Given the description of an element on the screen output the (x, y) to click on. 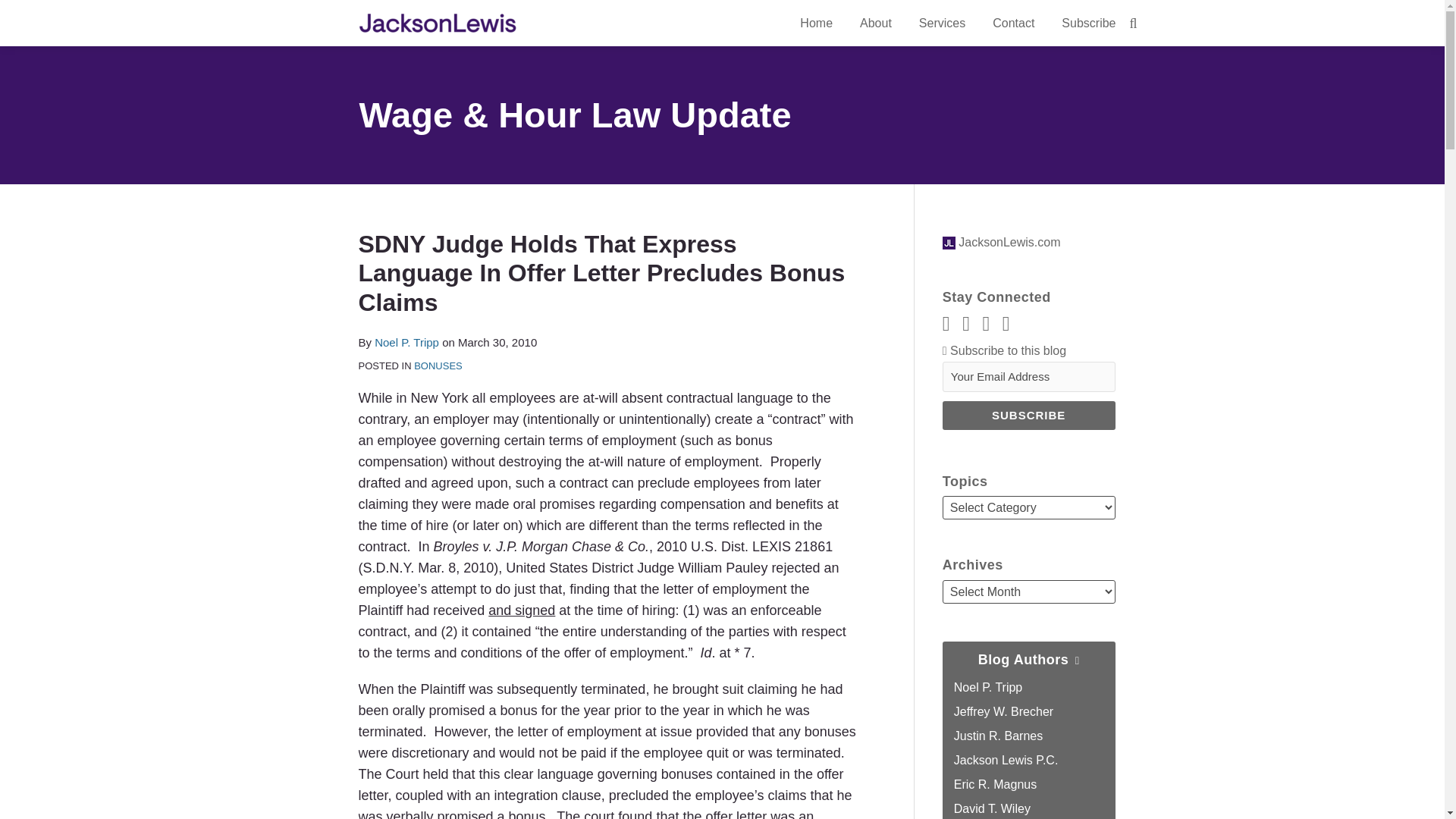
Subscribe (1088, 23)
BONUSES (438, 365)
Home (815, 23)
Contact (1012, 23)
JacksonLewis.com (1001, 241)
Subscribe (1028, 415)
Services (941, 23)
Noel P. Tripp (406, 341)
About (875, 23)
